Given the description of an element on the screen output the (x, y) to click on. 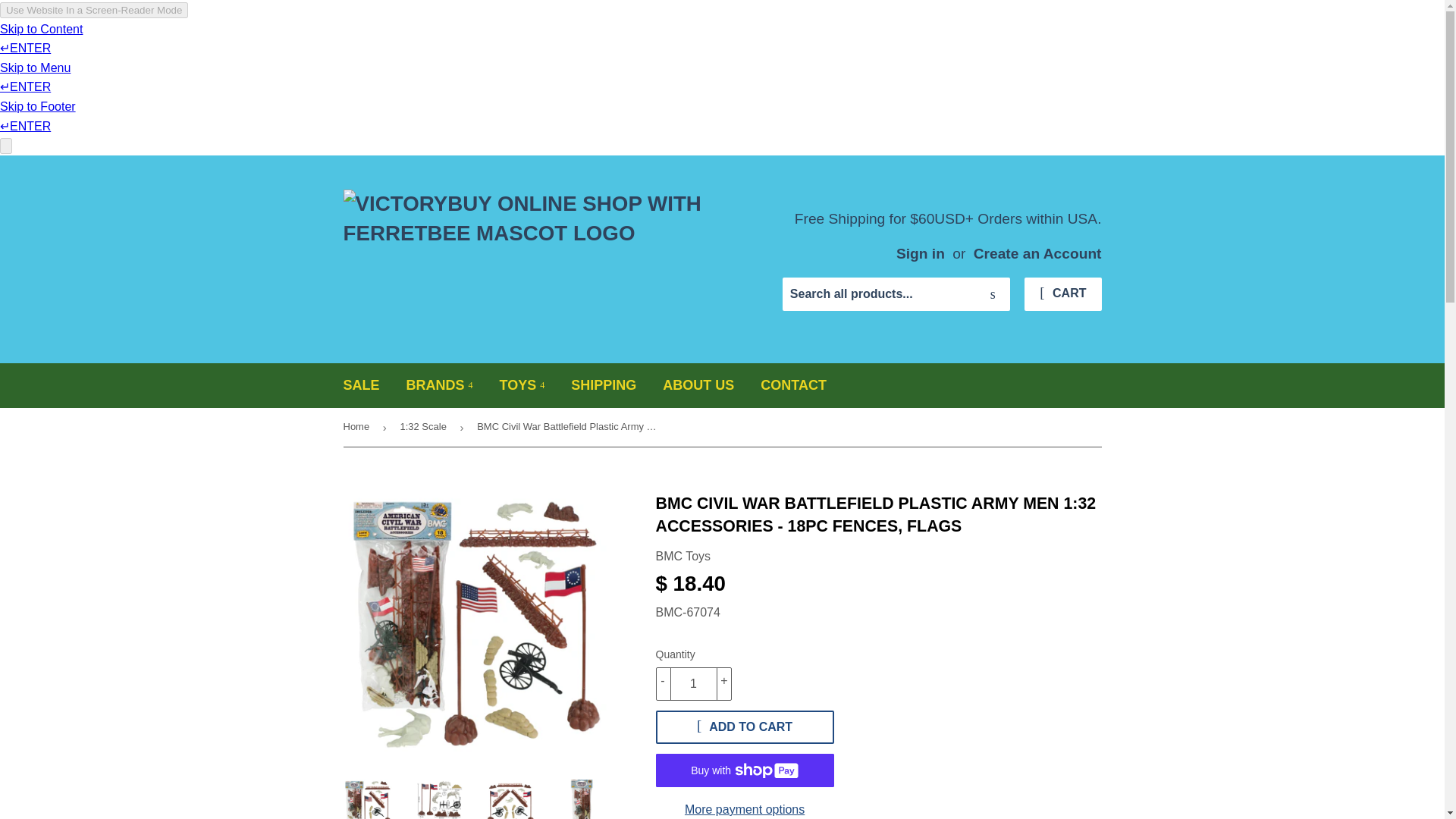
Search (992, 295)
Create an Account (1038, 253)
CART (1062, 294)
SHIPPING (603, 385)
1 (692, 684)
CONTACT (793, 385)
BRANDS (439, 385)
Sign in (920, 253)
SALE (361, 385)
ABOUT US (697, 385)
TOYS (521, 385)
